Given the description of an element on the screen output the (x, y) to click on. 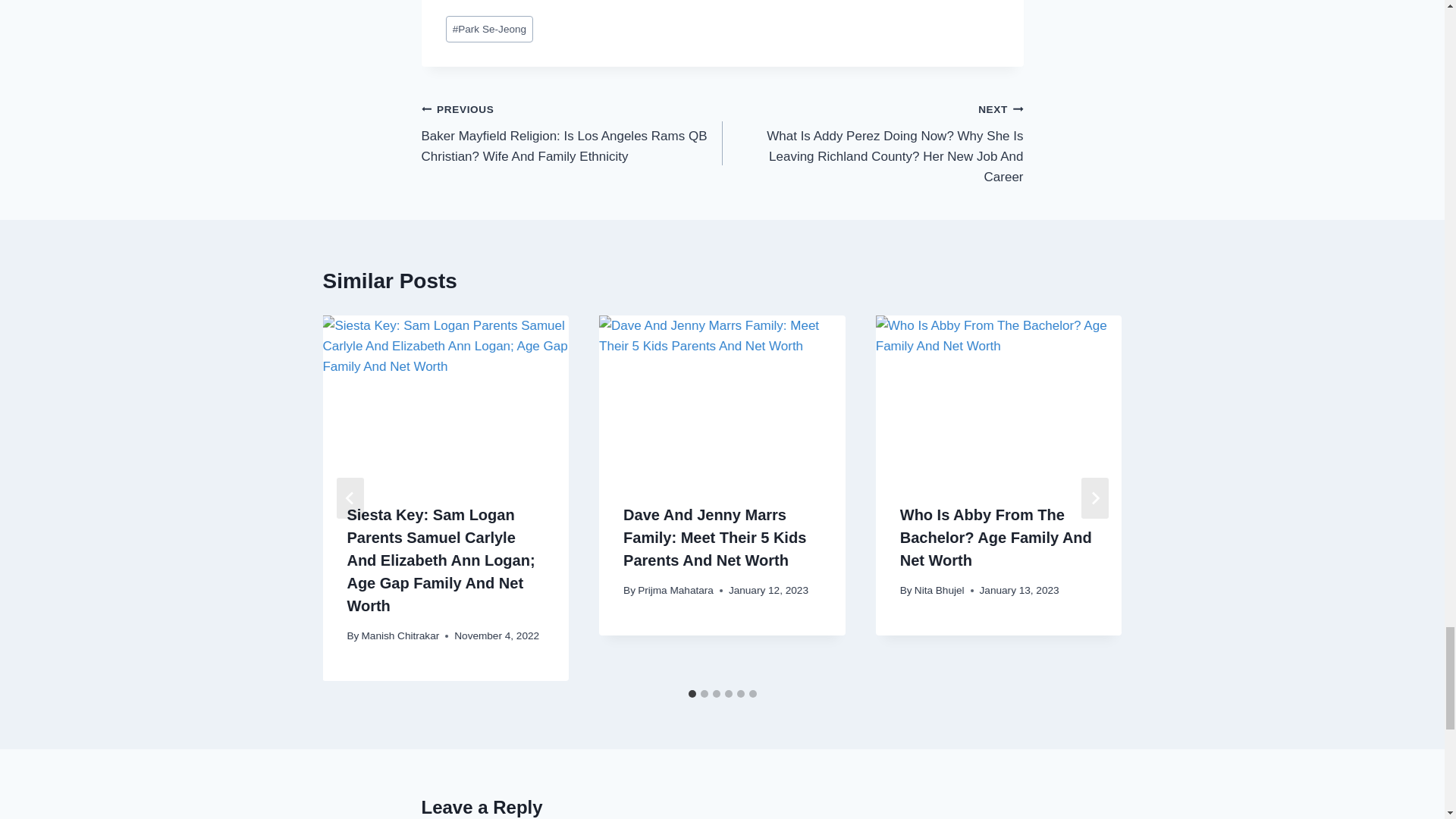
Who Is Abby From The Bachelor? Age Family And Net Worth (999, 397)
Park Se-Jeong (489, 28)
